Given the description of an element on the screen output the (x, y) to click on. 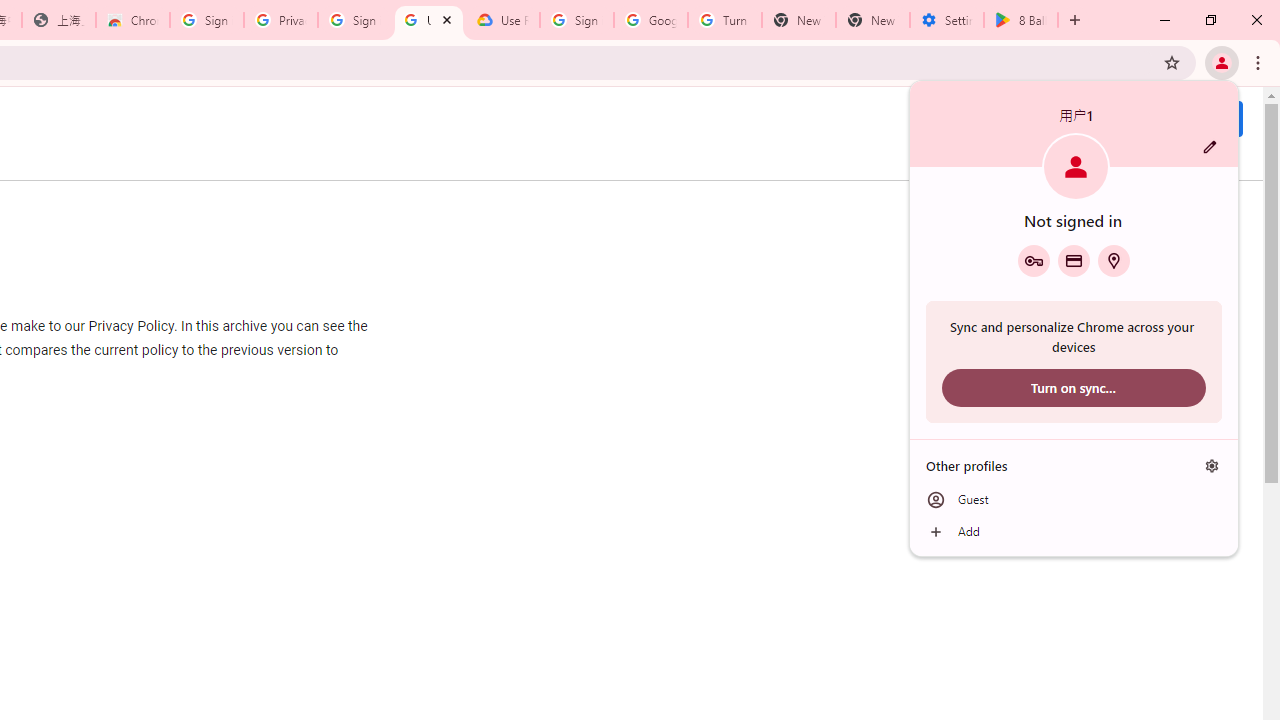
Manage profiles (1211, 465)
Payment methods (1074, 260)
Turn cookies on or off - Computer - Google Account Help (724, 20)
Google Password Manager (1033, 260)
Guest (1073, 499)
Sign in - Google Accounts (577, 20)
Sign in - Google Accounts (354, 20)
Customize profile (1210, 147)
